Given the description of an element on the screen output the (x, y) to click on. 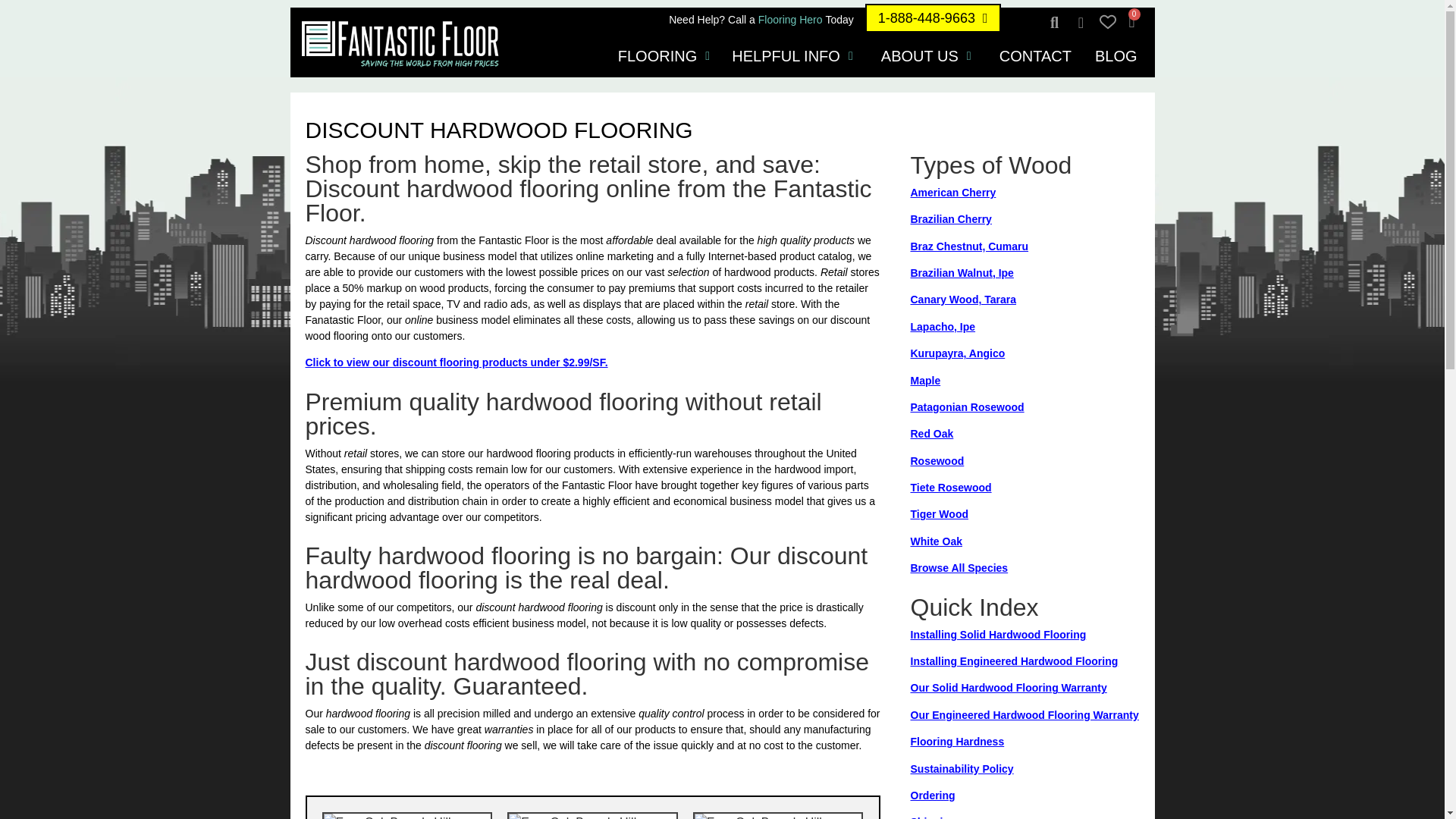
1-888-448-9663 (932, 18)
FLOORING (657, 56)
